Given the description of an element on the screen output the (x, y) to click on. 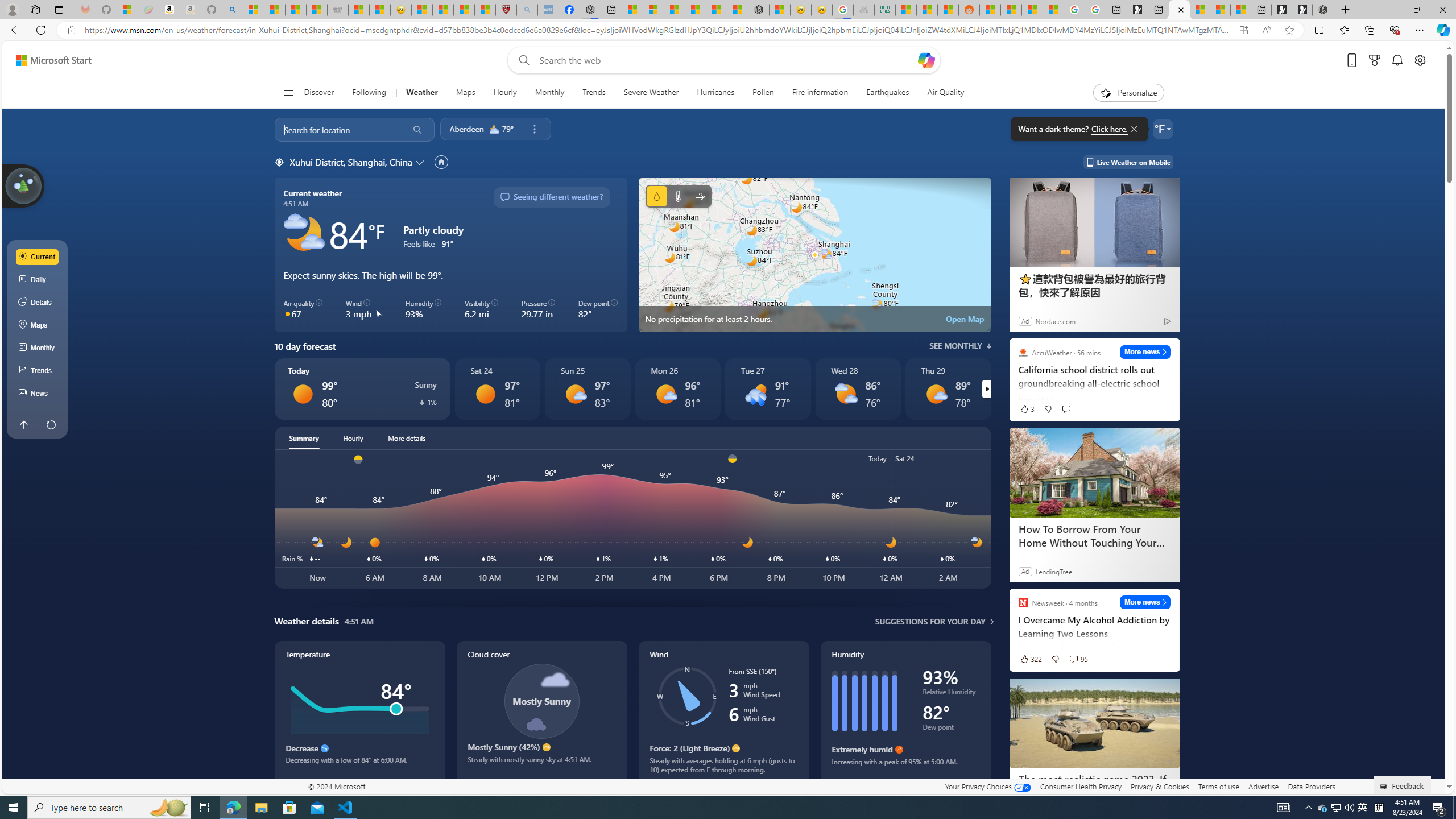
Skip to content (49, 59)
Open Copilot (925, 59)
Humidity 93% (423, 309)
Steady with mostly sunny sky at 4:51 AM. (541, 764)
14 Common Myths Debunked By Scientific Facts (716, 9)
Class: cloudCoverSvg-DS-ps0R9q (541, 700)
Switch right (986, 389)
Dew point (951, 728)
Play Free Online Games | Games from Microsoft Start (1302, 9)
Increasing with a peak of 95% at 5:00 AM. (905, 765)
